Given the description of an element on the screen output the (x, y) to click on. 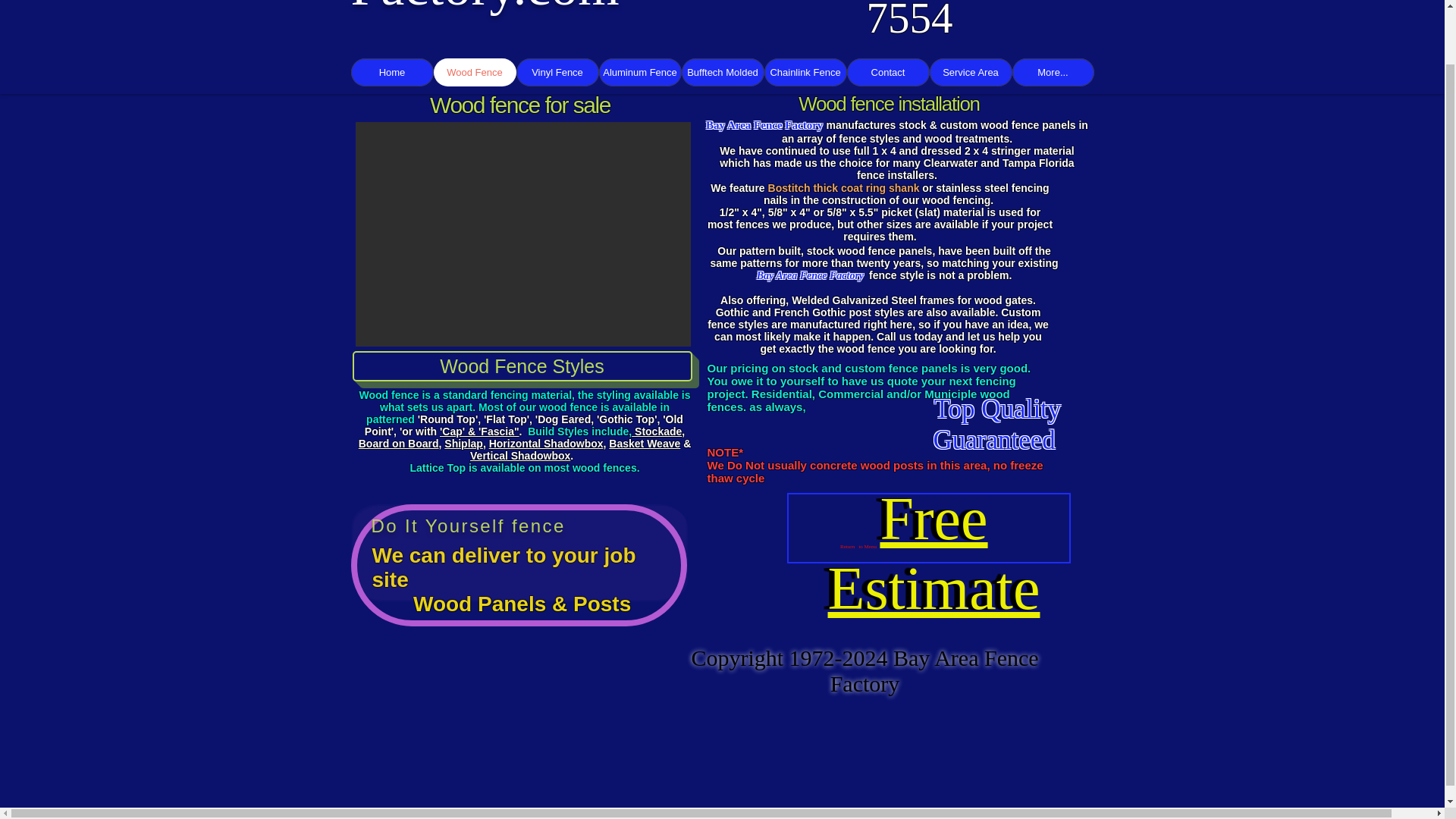
Contact (886, 72)
We can deliver to your job site (502, 567)
'Round Top' (447, 419)
Chainlink Fence (805, 72)
Aluminum Fence (639, 72)
Wood Fence (474, 72)
Vertical Shadowbox (520, 455)
Board on Board (398, 443)
Horizontal Shadowbox (546, 443)
Home (391, 72)
